Given the description of an element on the screen output the (x, y) to click on. 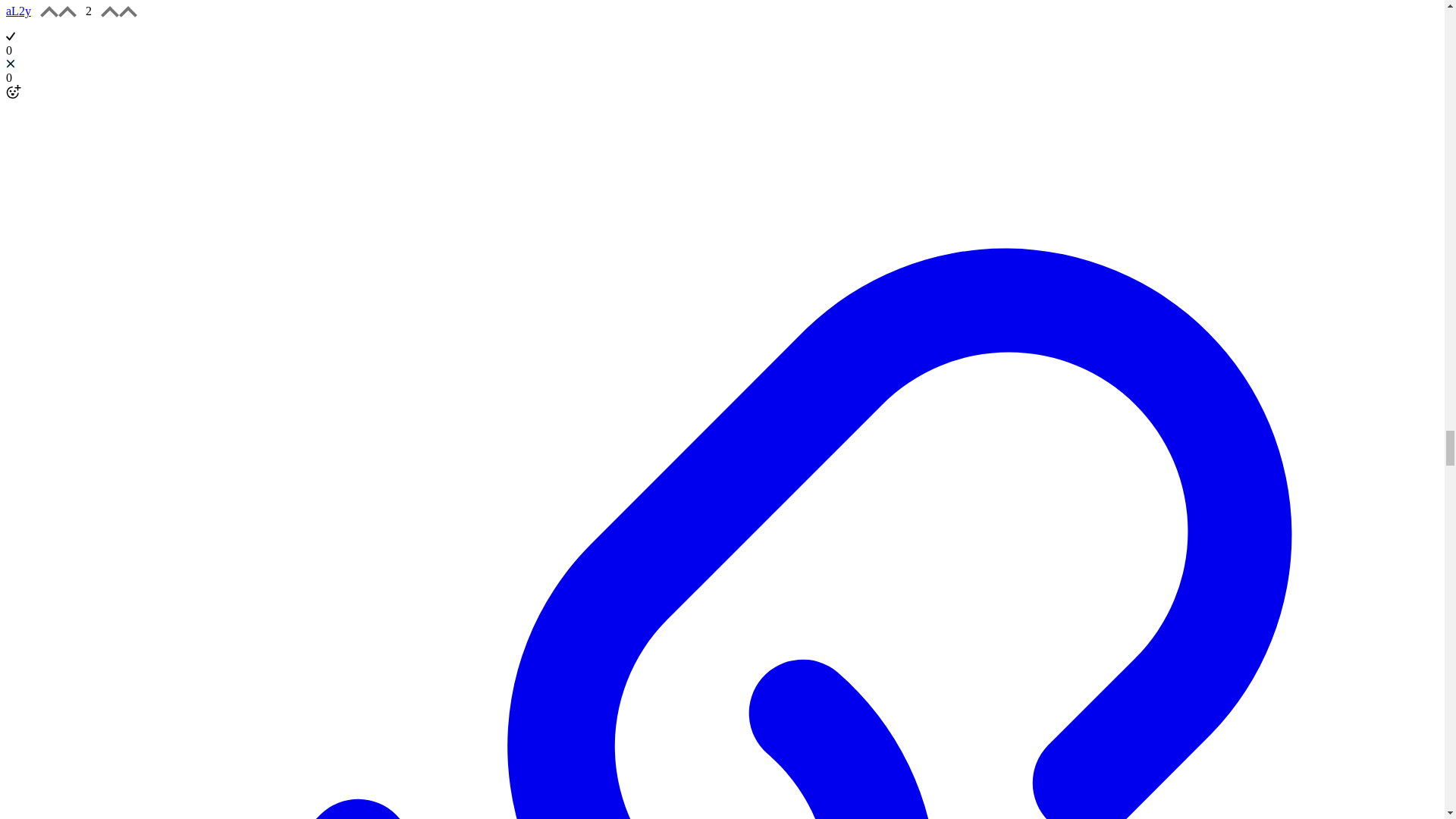
2y (24, 10)
